Given the description of an element on the screen output the (x, y) to click on. 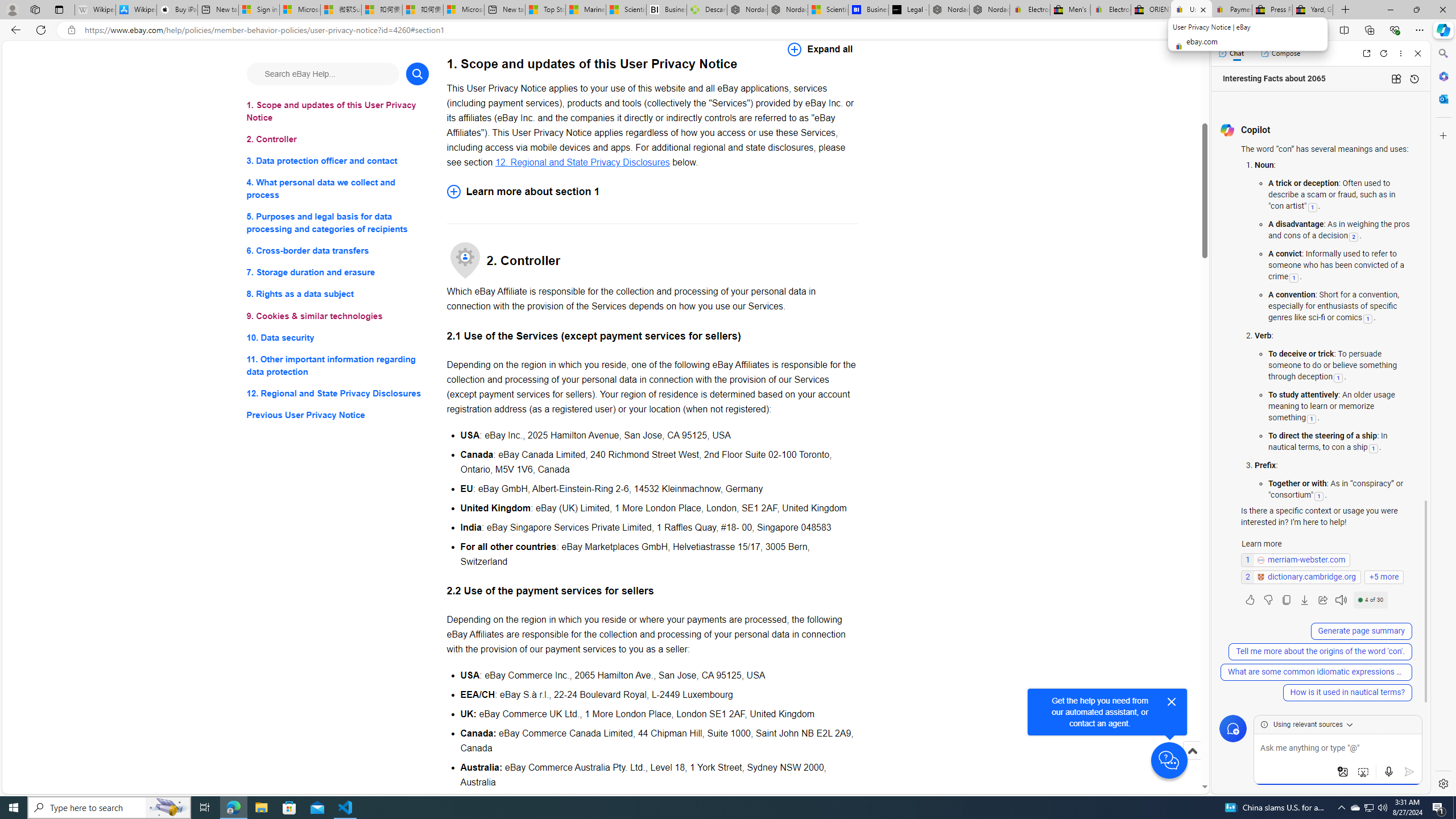
1. Scope and updates of this User Privacy Notice (337, 111)
Scroll to top (1191, 762)
Marine life - MSN (585, 9)
2. Controller (337, 138)
7. Storage duration and erasure (337, 272)
12. Regional and State Privacy Disclosures (582, 162)
10. Data security (337, 336)
User Privacy Notice | eBay (1191, 9)
Yard, Garden & Outdoor Living (1312, 9)
